Given the description of an element on the screen output the (x, y) to click on. 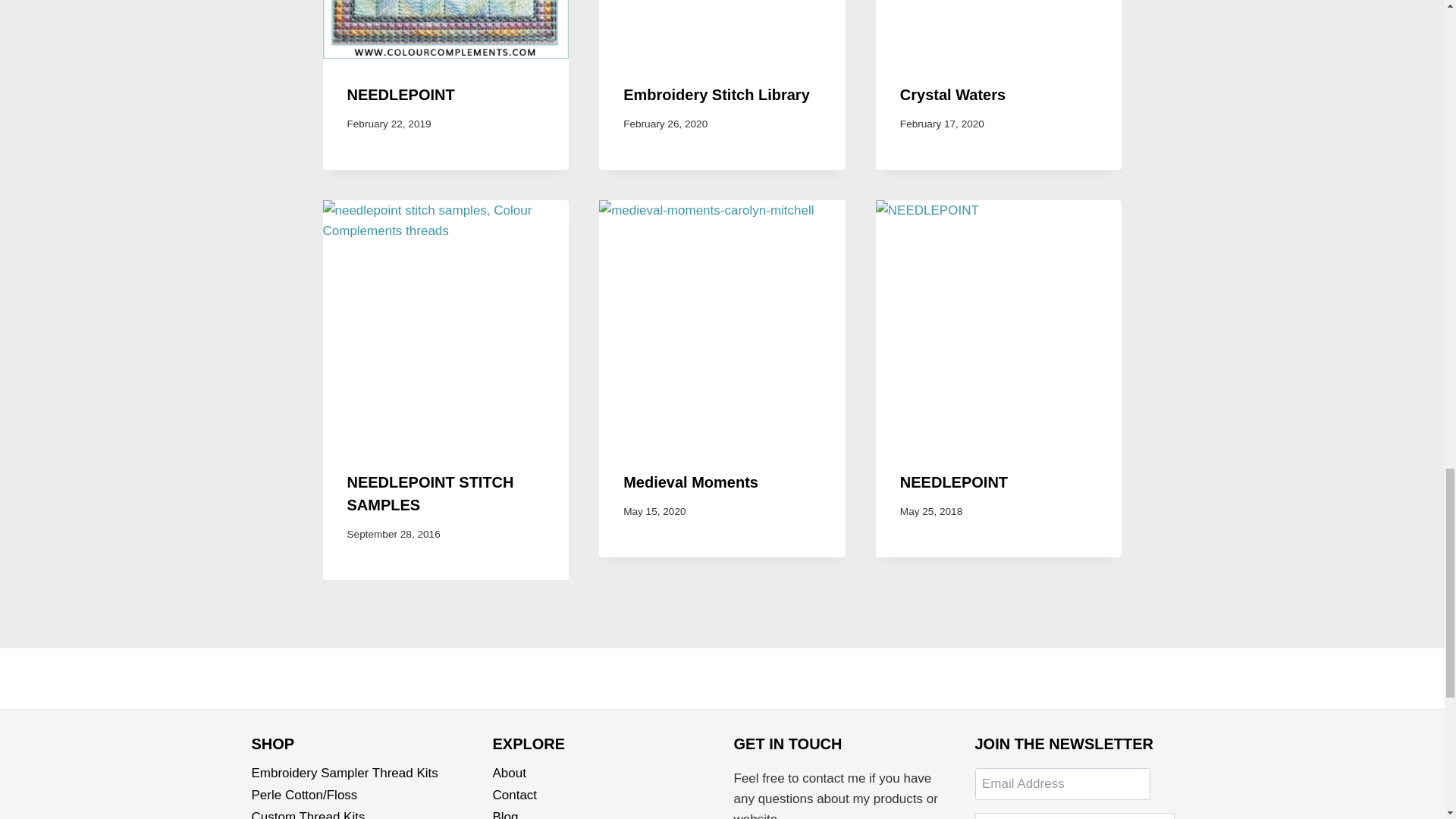
NEEDLEPOINT (400, 94)
Embroidery Stitch Library (716, 94)
Crystal Waters (952, 94)
